Given the description of an element on the screen output the (x, y) to click on. 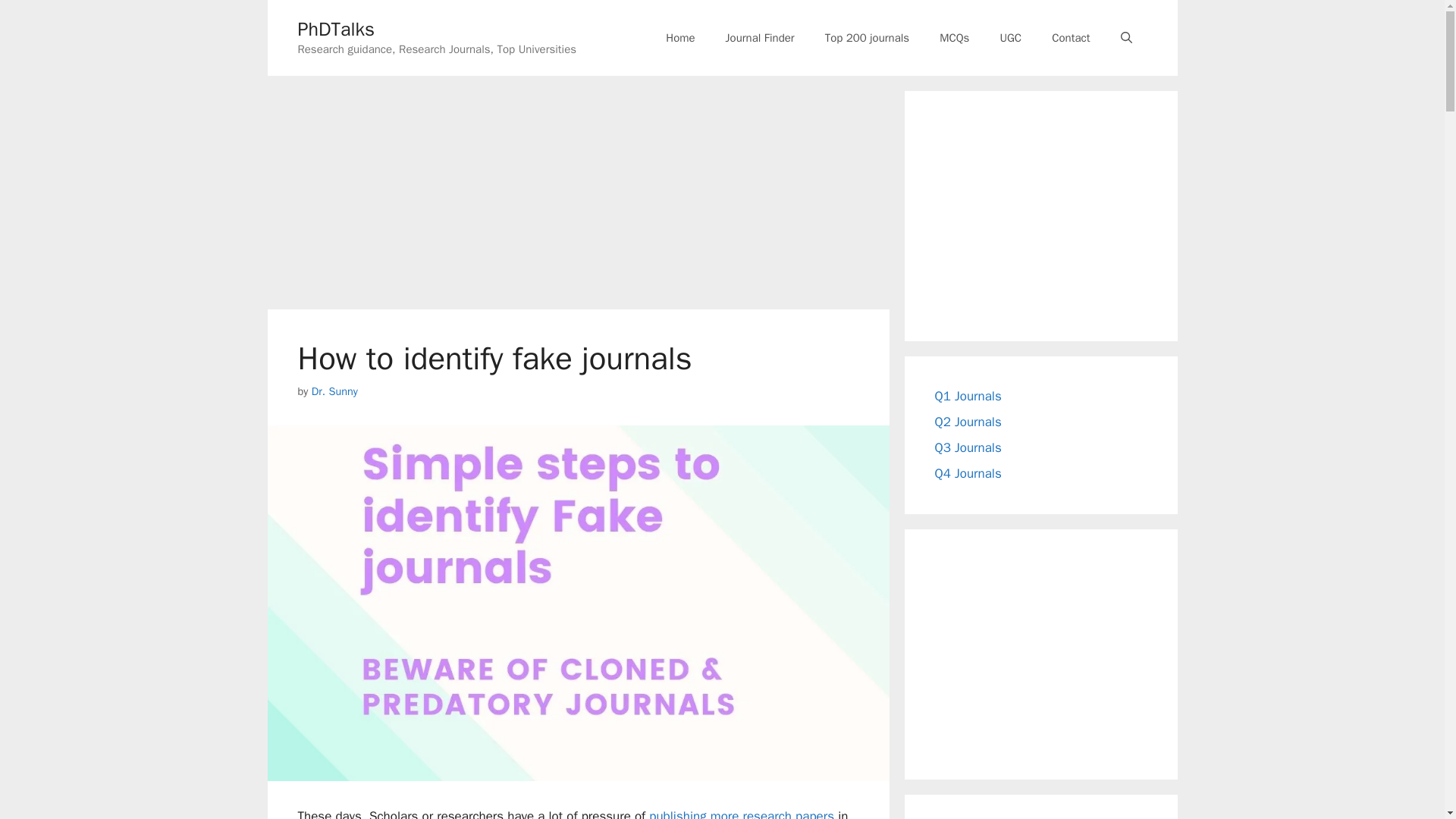
UGC (1010, 37)
Home (680, 37)
MCQs (954, 37)
Journal Finder (759, 37)
Top 200 journals (866, 37)
Dr. Sunny (334, 391)
PhDTalks (335, 28)
Contact (1070, 37)
publishing more research papers (741, 813)
